Given the description of an element on the screen output the (x, y) to click on. 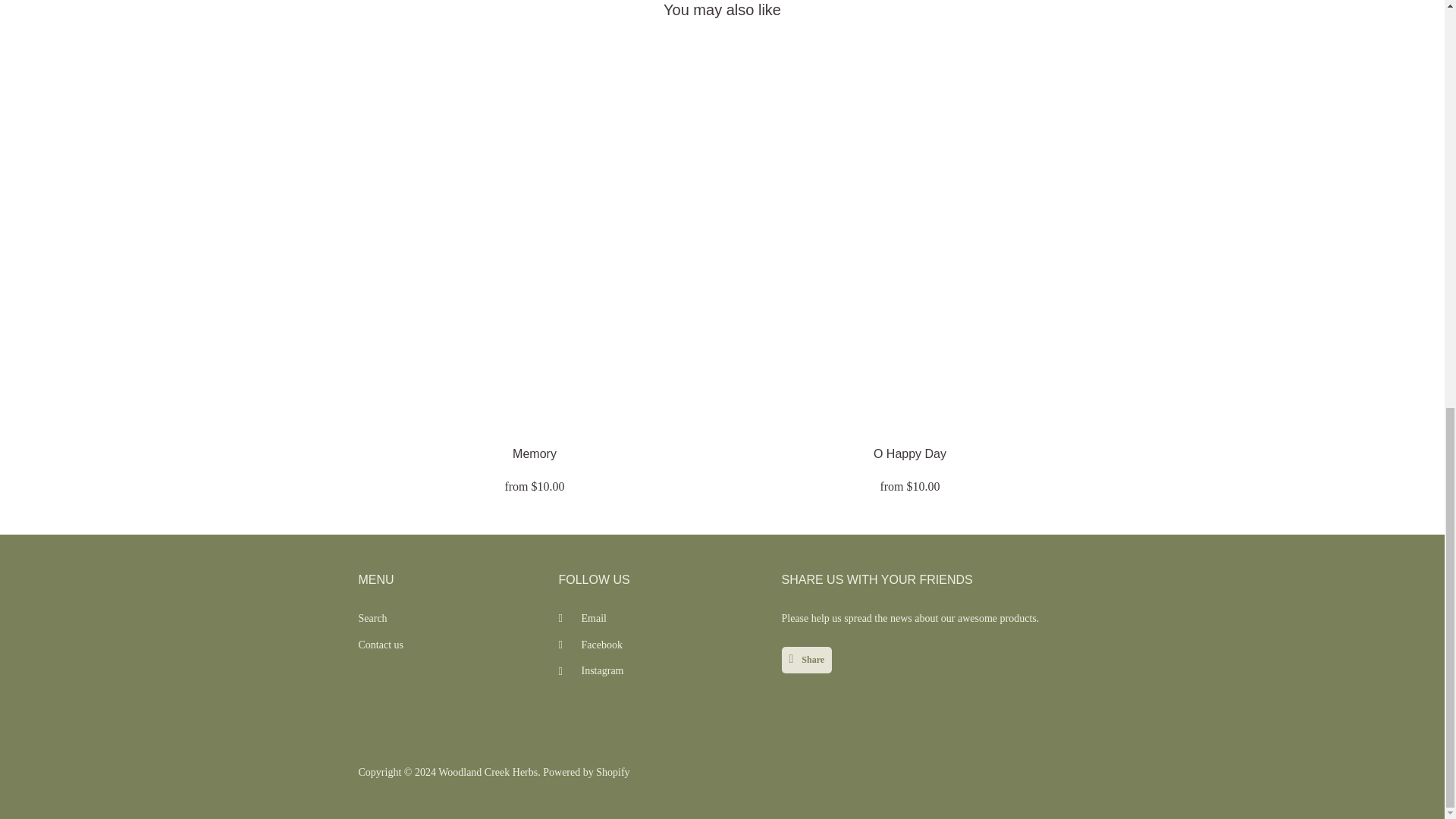
Search (372, 618)
Woodland Creek Herbs on Instagram (590, 670)
Woodland Creek Herbs on Facebook (589, 644)
Memory (534, 453)
O Happy Day (909, 453)
Email Woodland Creek Herbs (581, 618)
